Given the description of an element on the screen output the (x, y) to click on. 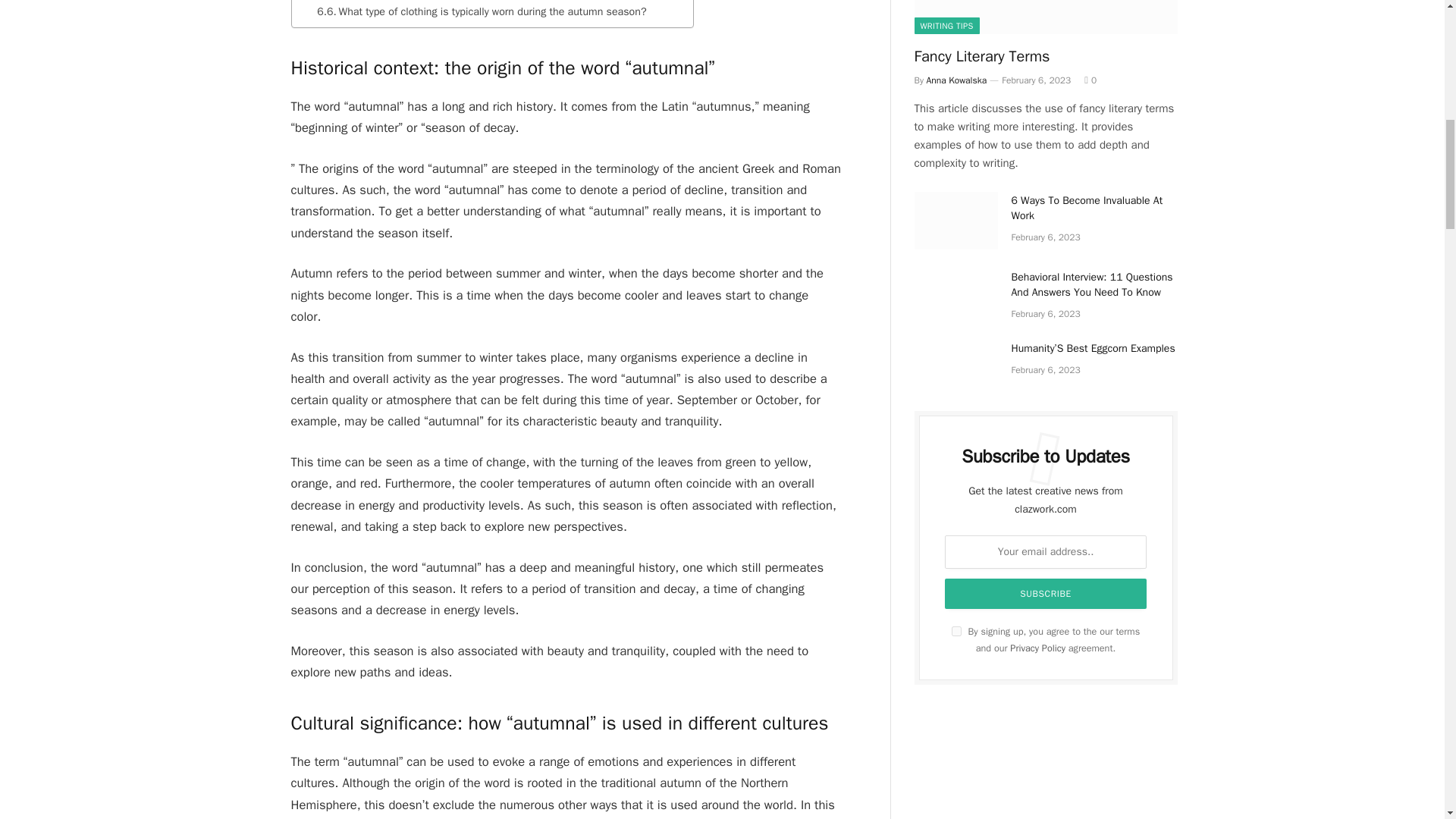
Subscribe (1045, 593)
on (956, 631)
